Given the description of an element on the screen output the (x, y) to click on. 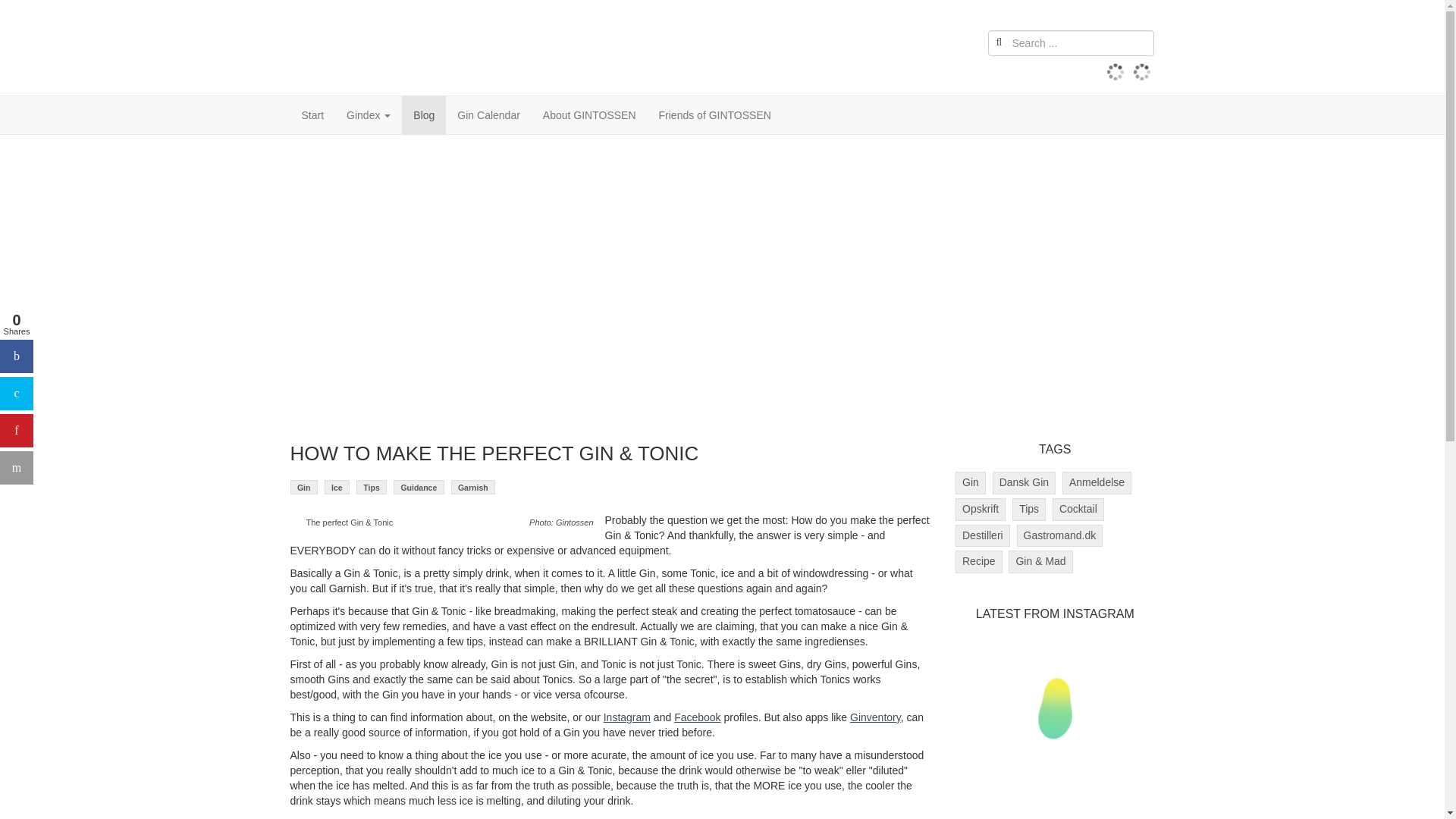
Start (311, 115)
English (1142, 71)
Ginventory app. (875, 717)
Dansk (1115, 71)
Gindex (367, 115)
